Given the description of an element on the screen output the (x, y) to click on. 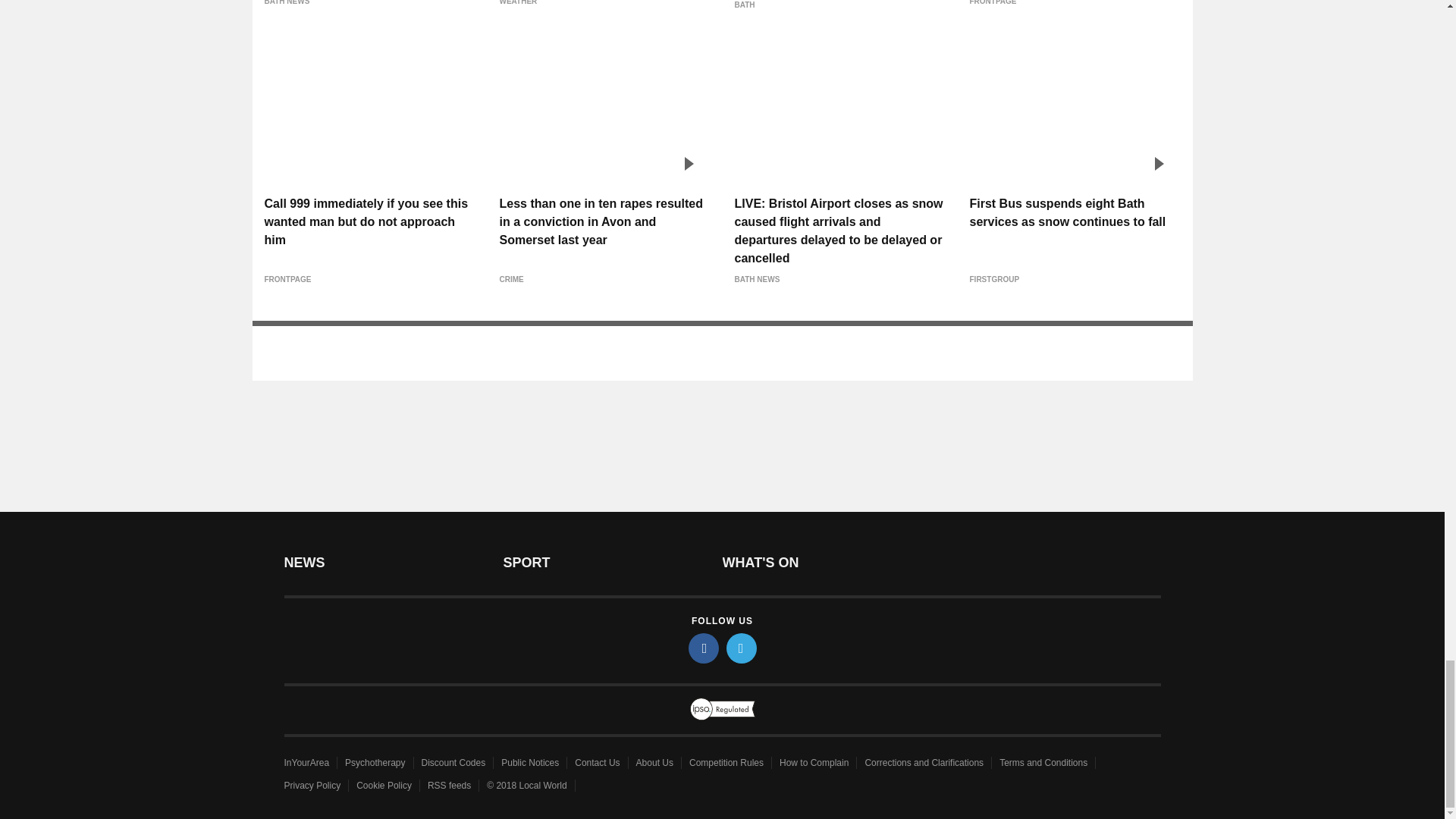
twitter (741, 648)
facebook (703, 648)
